Given the description of an element on the screen output the (x, y) to click on. 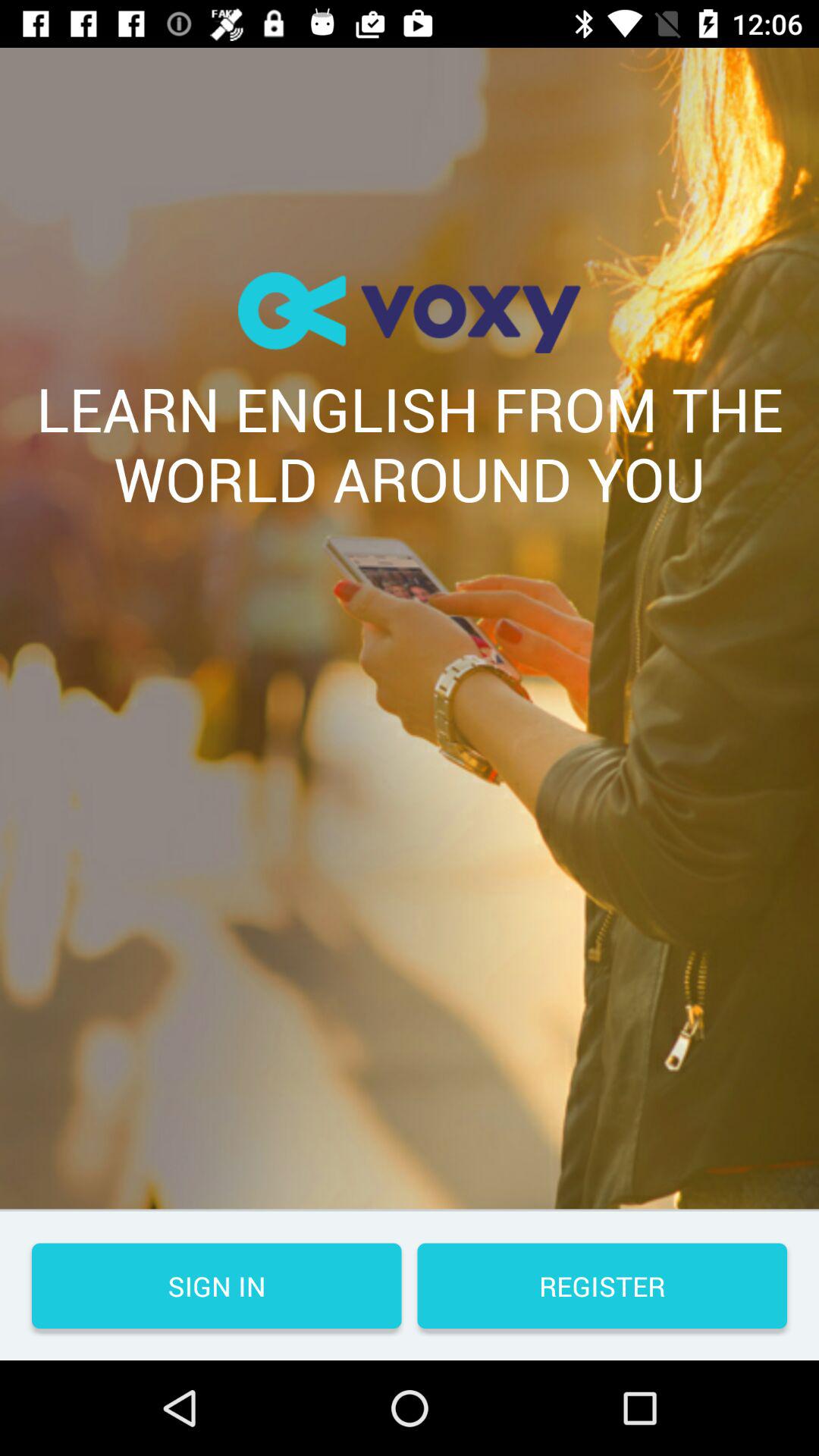
turn on item next to the sign in (602, 1285)
